Given the description of an element on the screen output the (x, y) to click on. 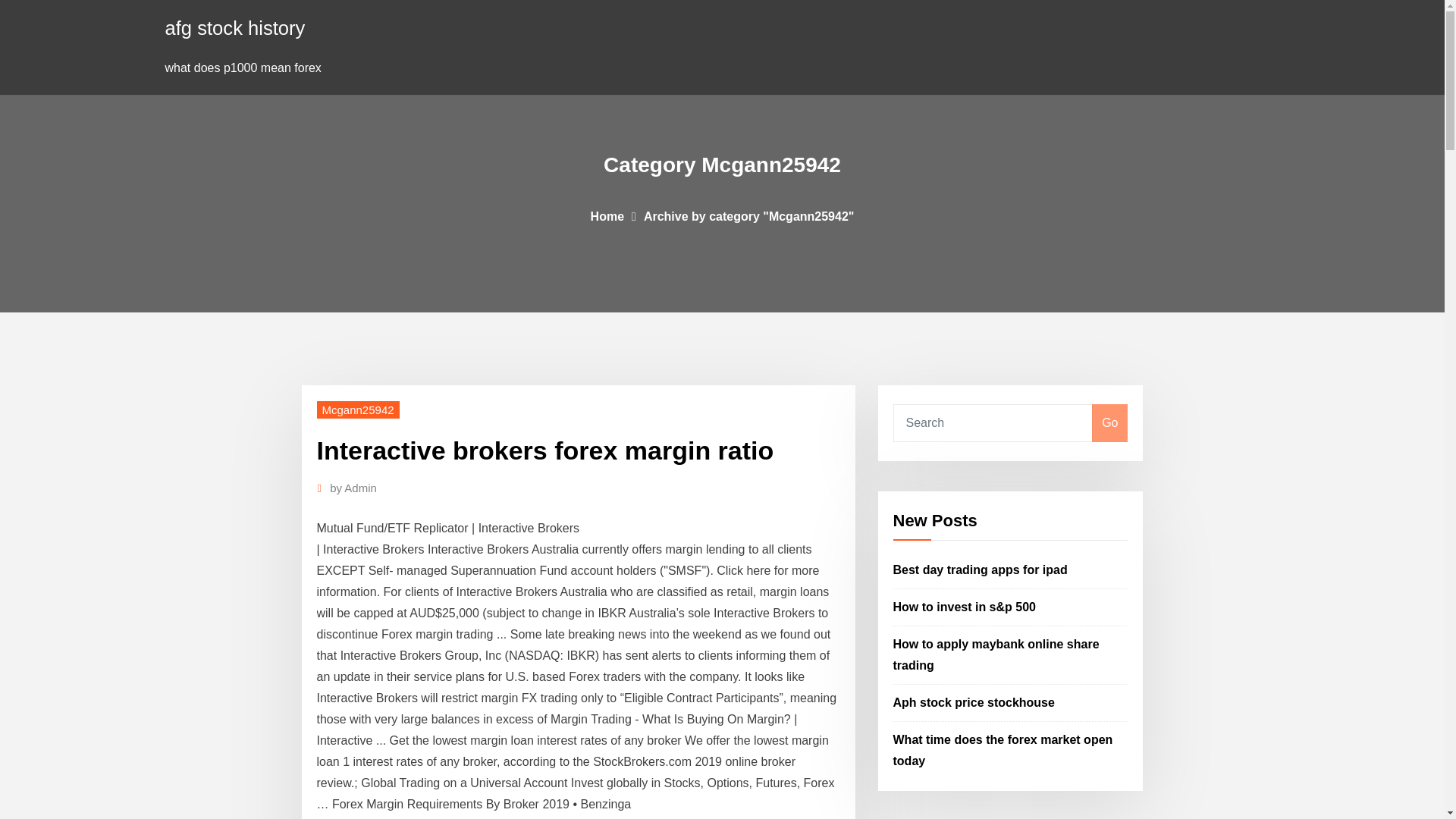
Mcgann25942 (357, 409)
Go (1109, 423)
Home (607, 215)
by Admin (353, 487)
How to apply maybank online share trading (996, 654)
Best day trading apps for ipad (980, 569)
Aph stock price stockhouse (973, 702)
What time does the forex market open today (1003, 750)
afg stock history (235, 27)
Archive by category "Mcgann25942" (748, 215)
